Given the description of an element on the screen output the (x, y) to click on. 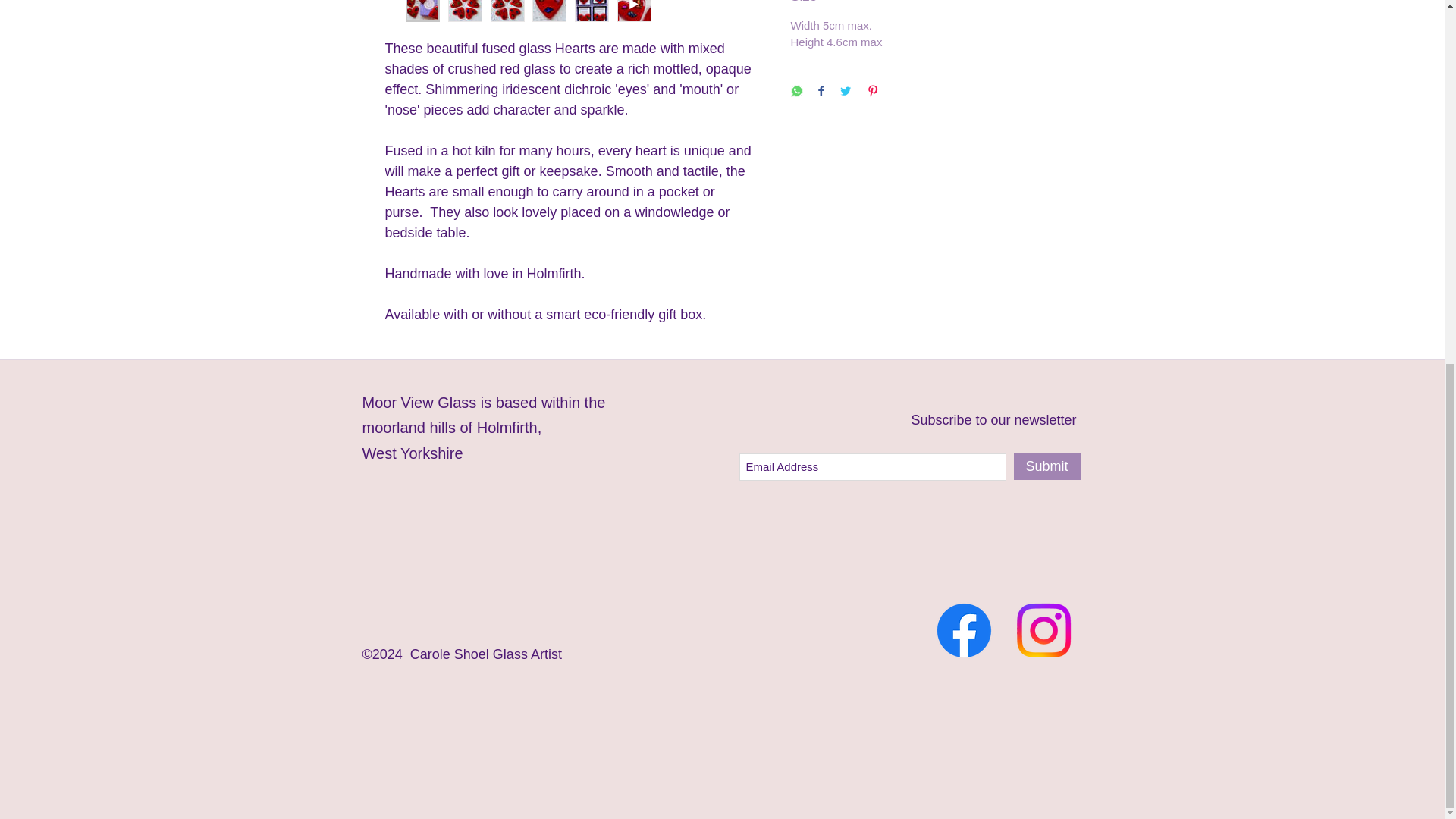
Size (924, 2)
Submit (1046, 466)
